Given the description of an element on the screen output the (x, y) to click on. 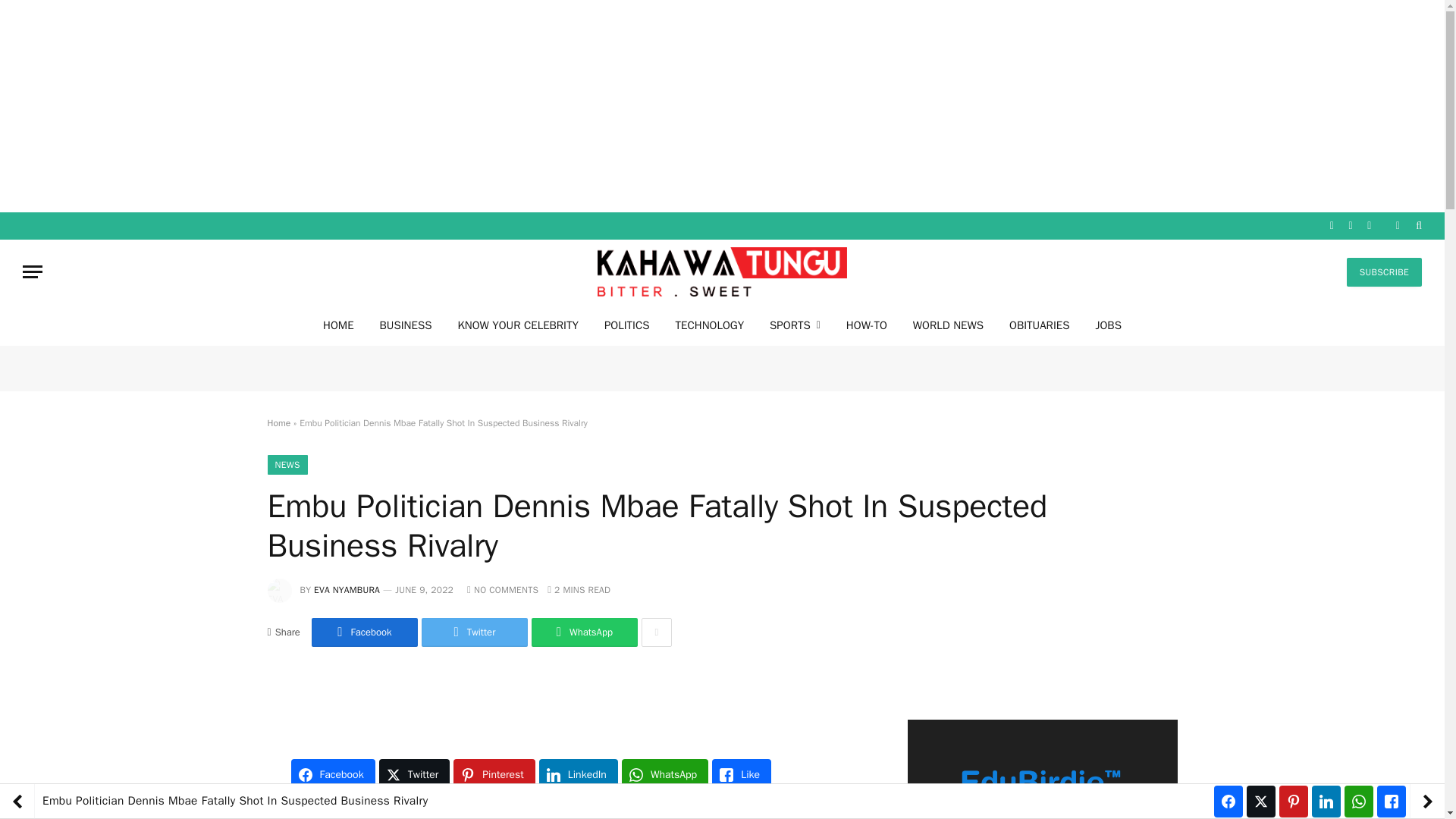
Home (277, 422)
KNOW YOUR CELEBRITY (517, 324)
POLITICS (626, 324)
HOW-TO (865, 324)
KahawaTungu (721, 271)
Facebook (364, 632)
OBITUARIES (1038, 324)
Show More Social Sharing (656, 632)
NEWS (286, 465)
